Given the description of an element on the screen output the (x, y) to click on. 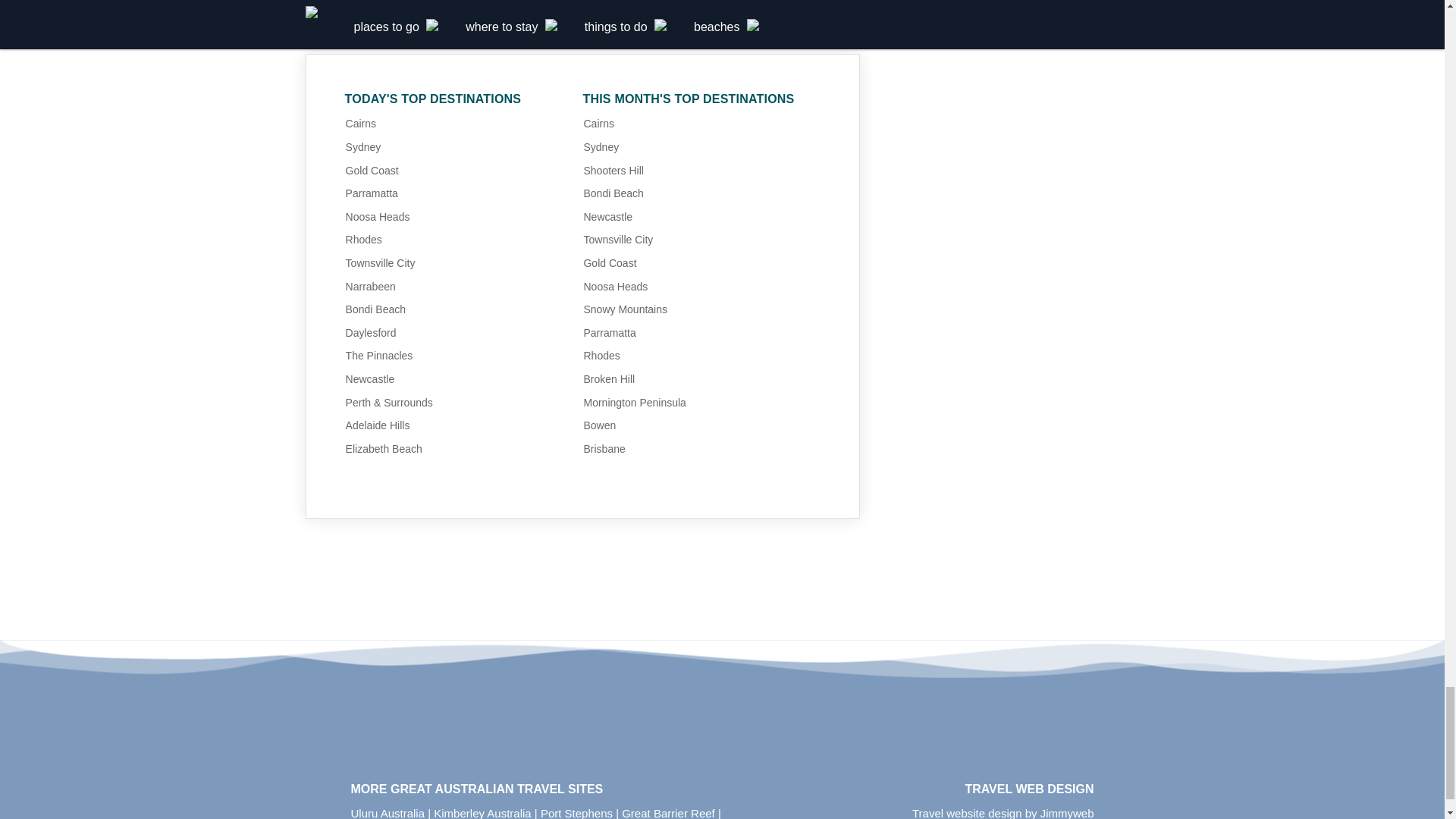
Noosa Heads (378, 216)
Gold Coast (372, 170)
Narrabeen (371, 286)
Townsville City (380, 263)
Sydney (363, 146)
Rhodes (363, 239)
Parramatta (371, 193)
Cairns (360, 123)
Bondi Beach (376, 309)
